Given the description of an element on the screen output the (x, y) to click on. 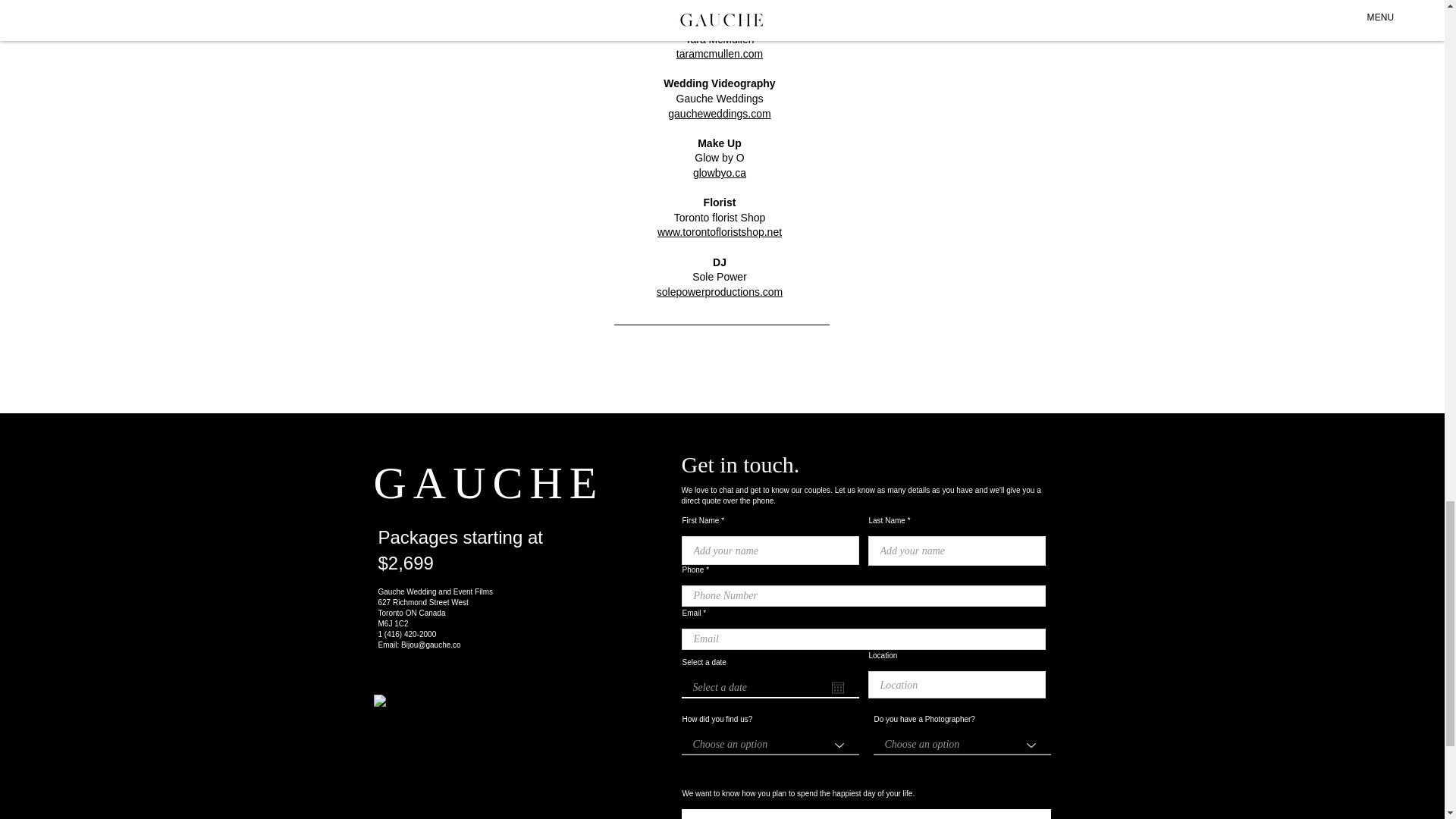
gaucheweddings.com (719, 113)
solepowerproductions.com (719, 291)
GAUCHE LETTER WHITE.png (434, 756)
www.torontofloristshop.net (719, 232)
taramcmullen.com (719, 53)
glowbyo.ca (719, 173)
